Given the description of an element on the screen output the (x, y) to click on. 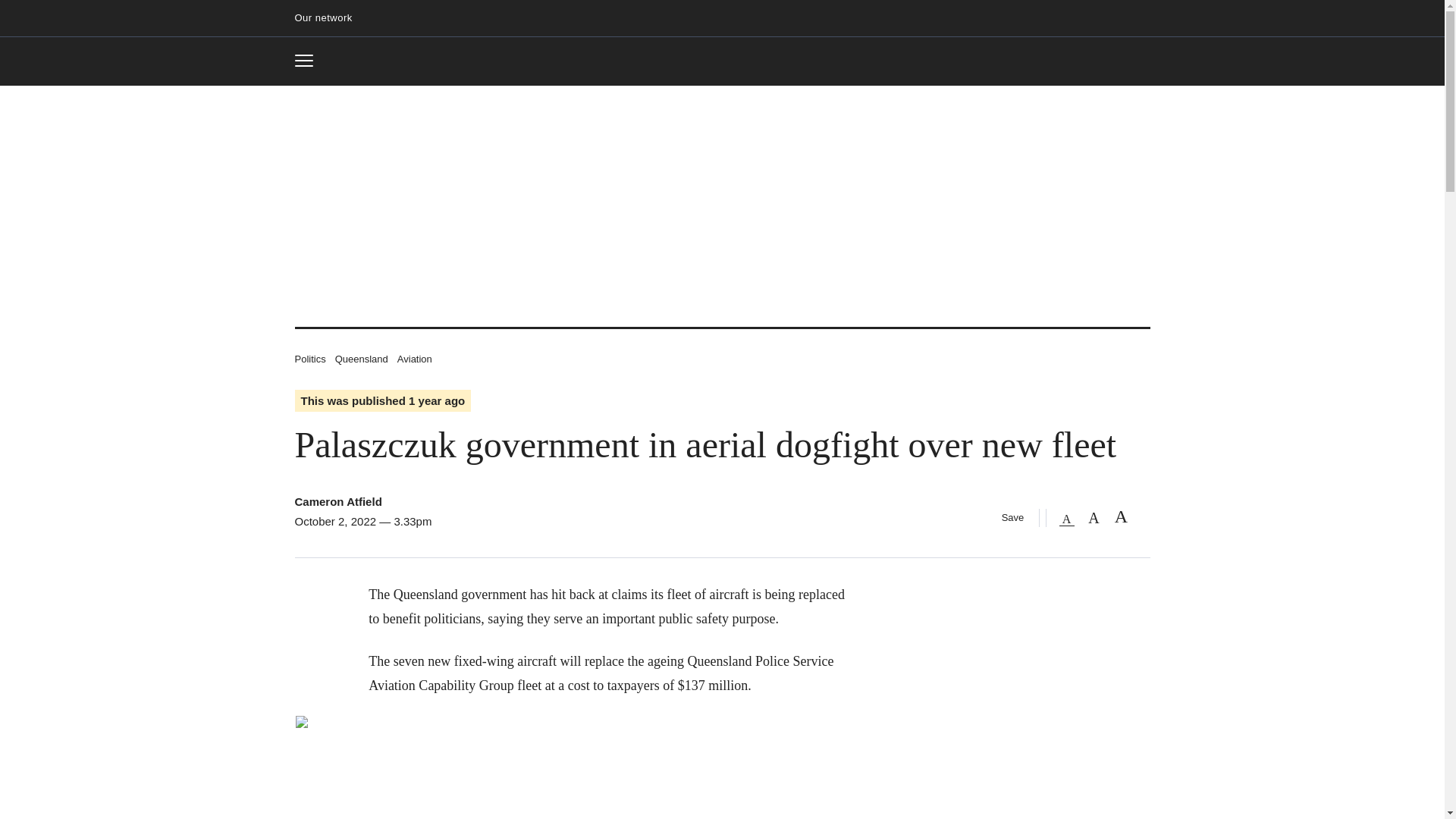
Articles by Cameron Atfield (337, 501)
Politics (309, 358)
Our network (329, 17)
Brisbane Times (309, 60)
Queensland (722, 61)
Aviation (361, 358)
